Given the description of an element on the screen output the (x, y) to click on. 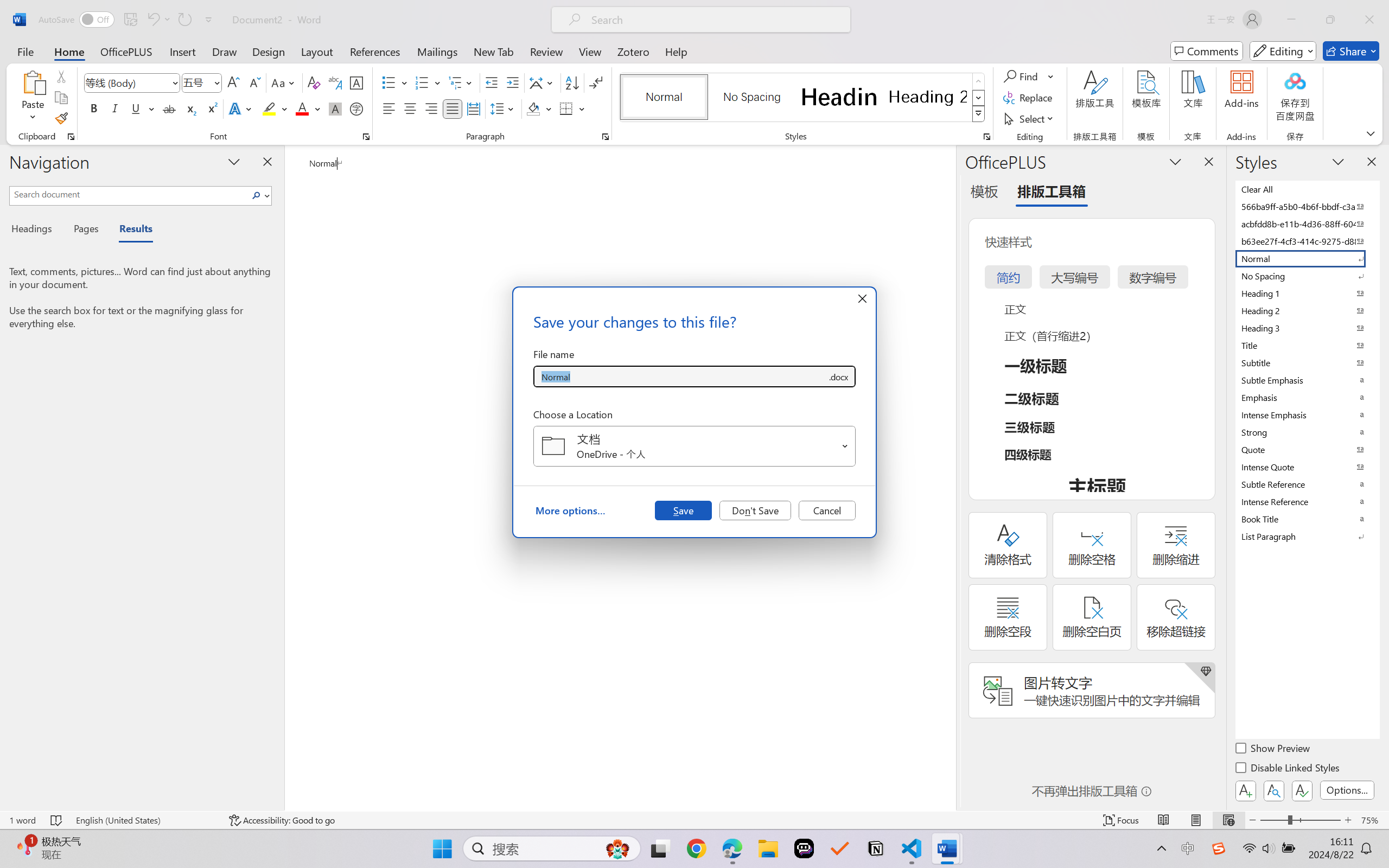
Office Clipboard... (70, 136)
Language English (United States) (144, 819)
Format Painter (60, 118)
Search document (128, 193)
Asian Layout (542, 82)
Disable Linked Styles (1287, 769)
Subtle Emphasis (1306, 379)
List Paragraph (1306, 536)
Intense Quote (1306, 466)
Font... (365, 136)
Google Chrome (696, 848)
Notion (875, 848)
Zoom In (1348, 819)
